Given the description of an element on the screen output the (x, y) to click on. 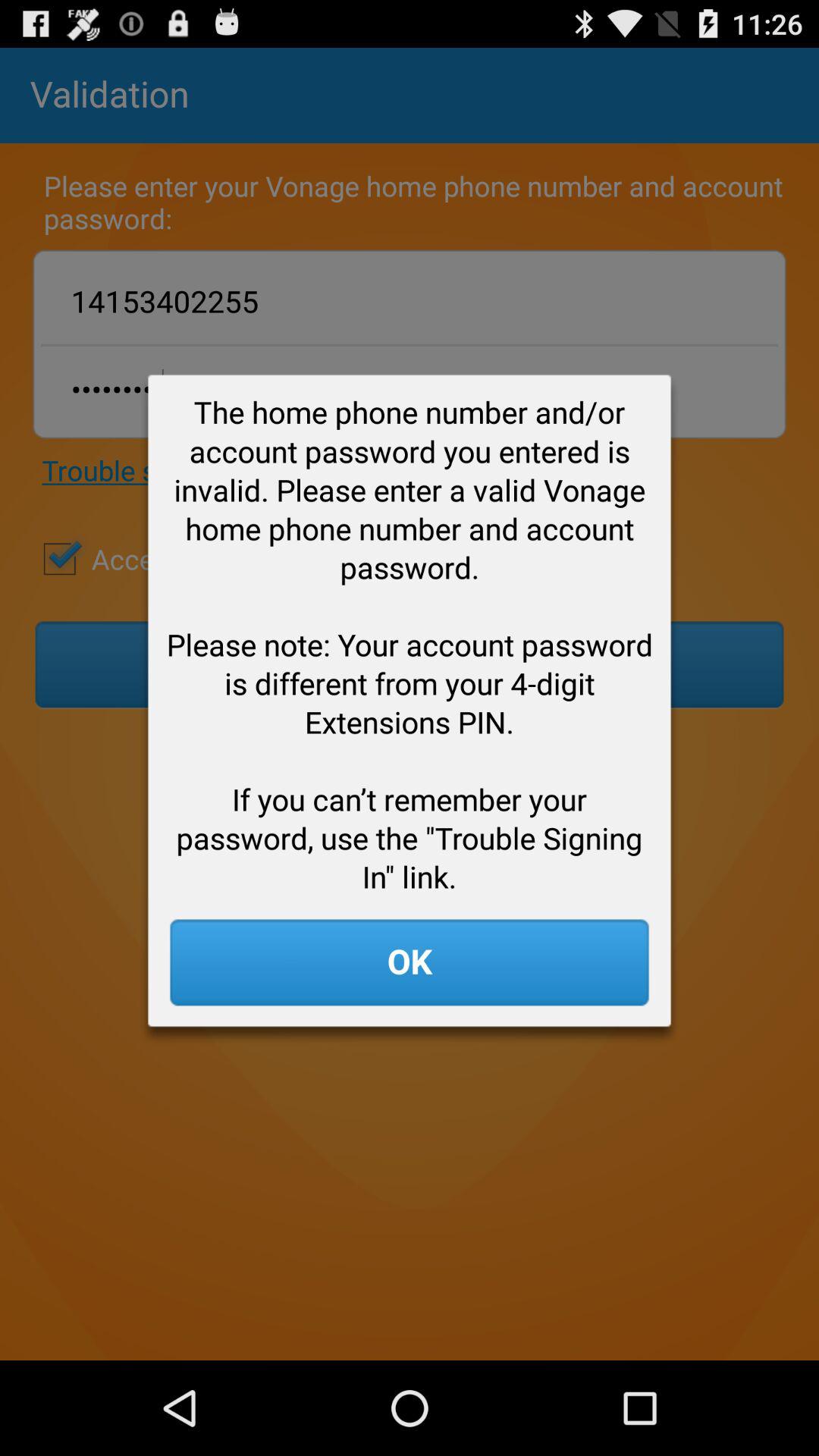
scroll to ok icon (409, 962)
